Given the description of an element on the screen output the (x, y) to click on. 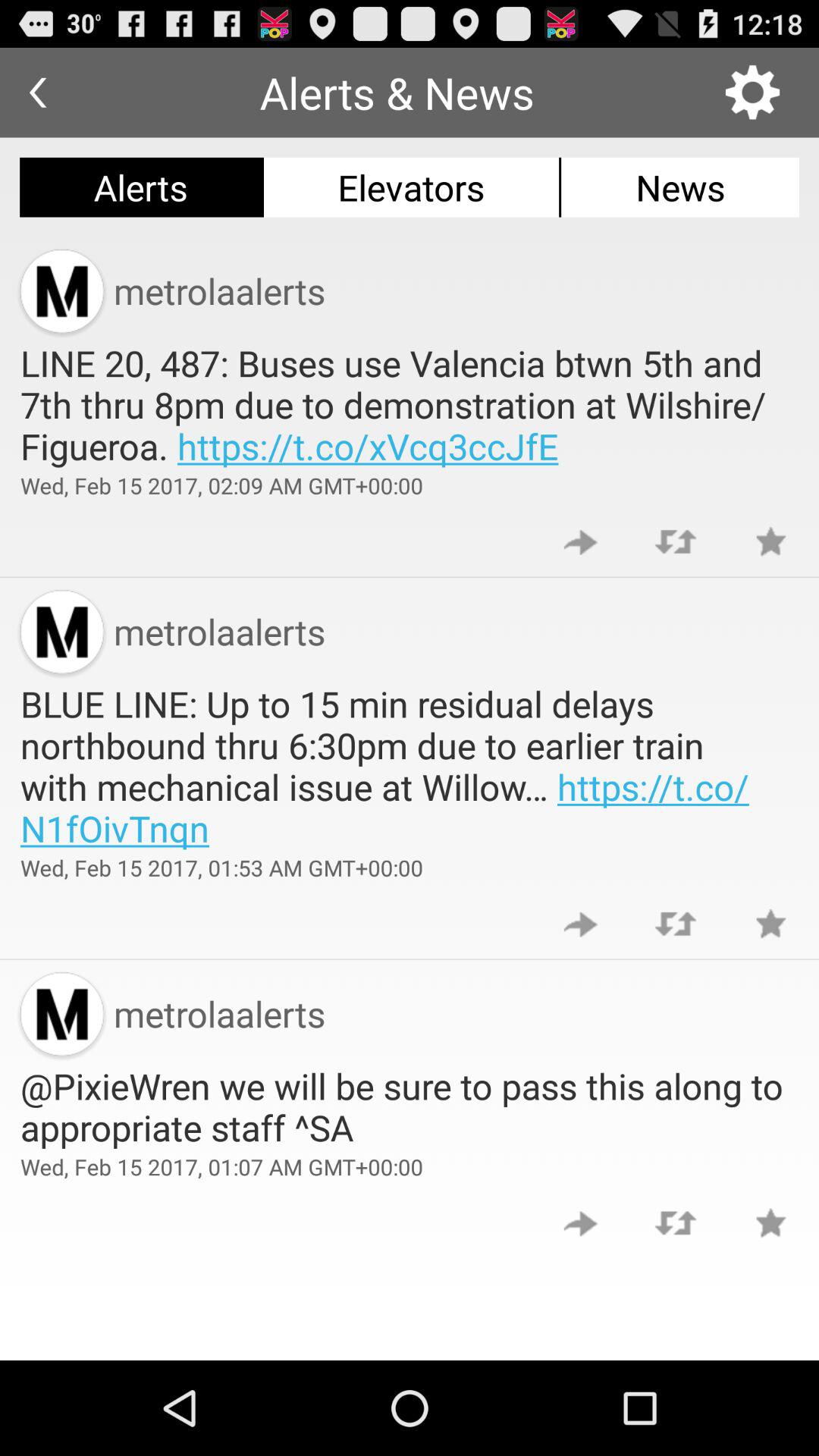
launch the item to the right of alerts & news item (752, 92)
